Given the description of an element on the screen output the (x, y) to click on. 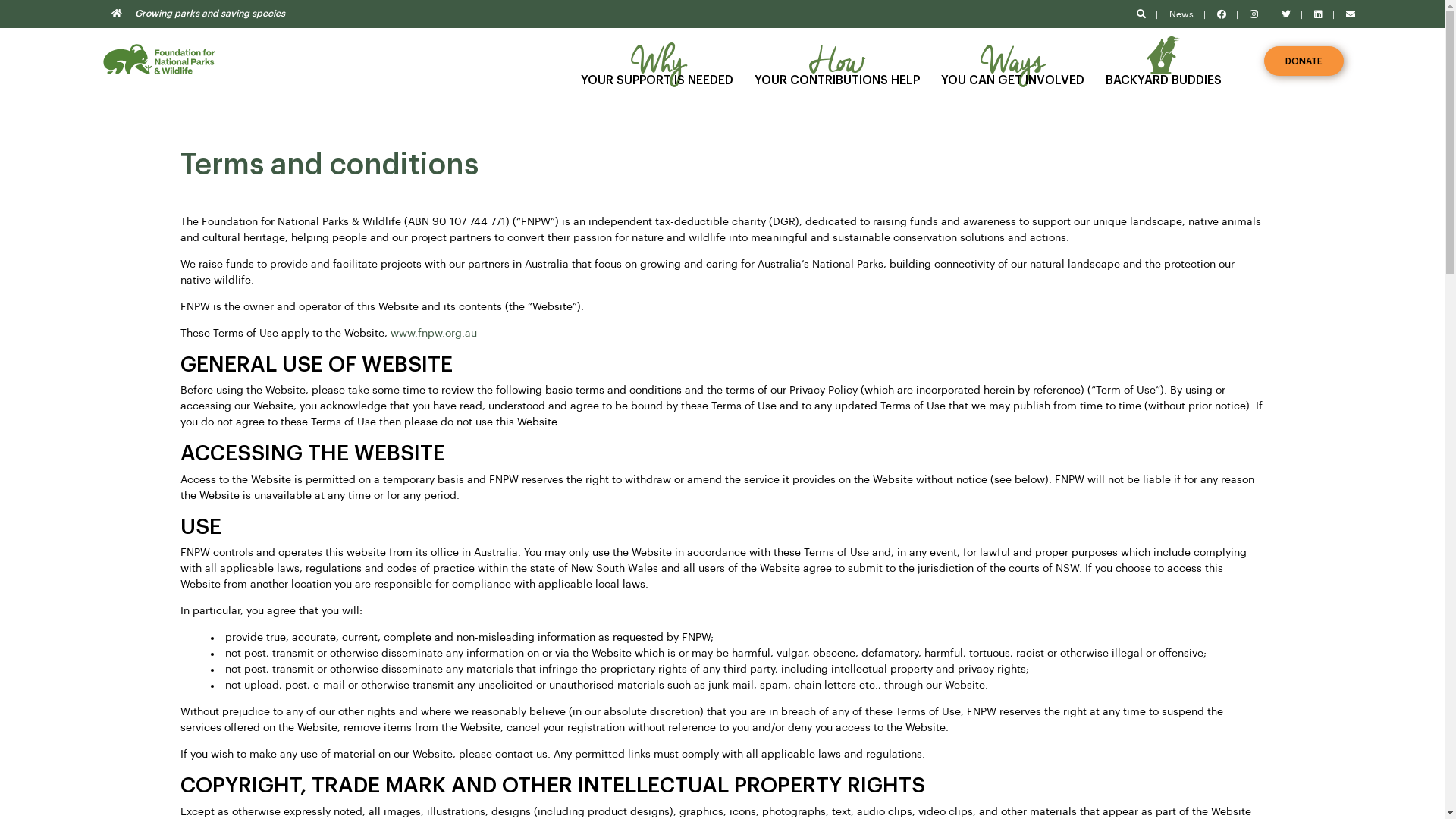
Facebook Element type: text (1221, 13)
Instagram Element type: text (1253, 13)
Search Element type: text (1141, 13)
Email Element type: text (1350, 13)
Linkedin Element type: text (1318, 13)
News Element type: text (1181, 13)
BACKYARD BUDDIES Element type: text (1163, 61)
Ways
YOU CAN GET INVOLVED Element type: text (1012, 61)
DONATE Element type: text (1303, 60)
How
YOUR CONTRIBUTIONS HELP Element type: text (836, 61)
Why
YOUR SUPPORT IS NEEDED Element type: text (656, 61)
Twitter Element type: text (1285, 13)
www.fnpw.org.au Element type: text (433, 333)
